Given the description of an element on the screen output the (x, y) to click on. 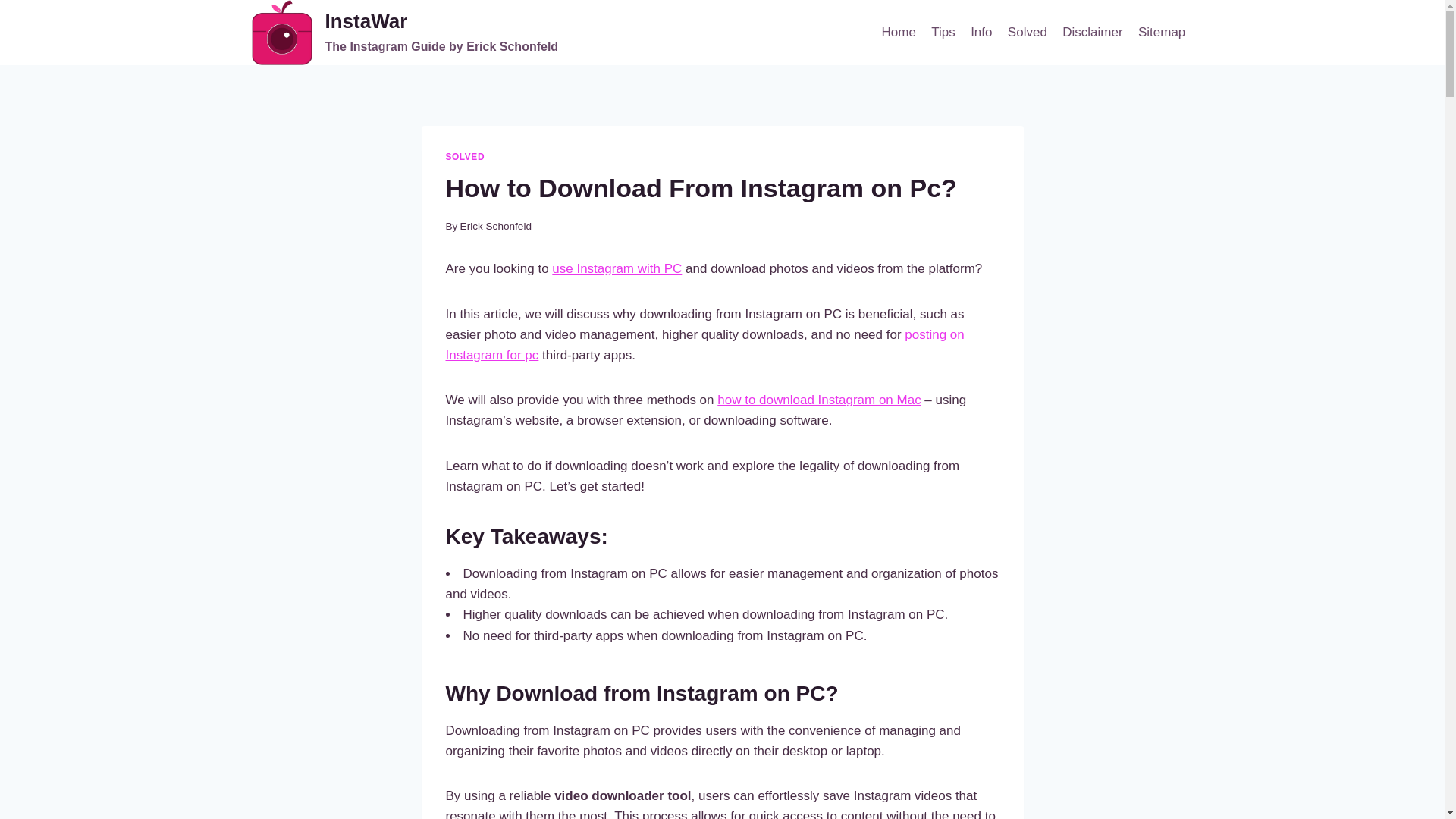
Info (981, 32)
Tips (942, 32)
Erick Schonfeld (495, 225)
Solved (1027, 32)
how to download Instagram on Mac (818, 400)
posting on Instagram for pc (704, 344)
Home (898, 32)
use Instagram with PC (405, 32)
Disclaimer (616, 268)
SOLVED (1092, 32)
Sitemap (464, 156)
